Given the description of an element on the screen output the (x, y) to click on. 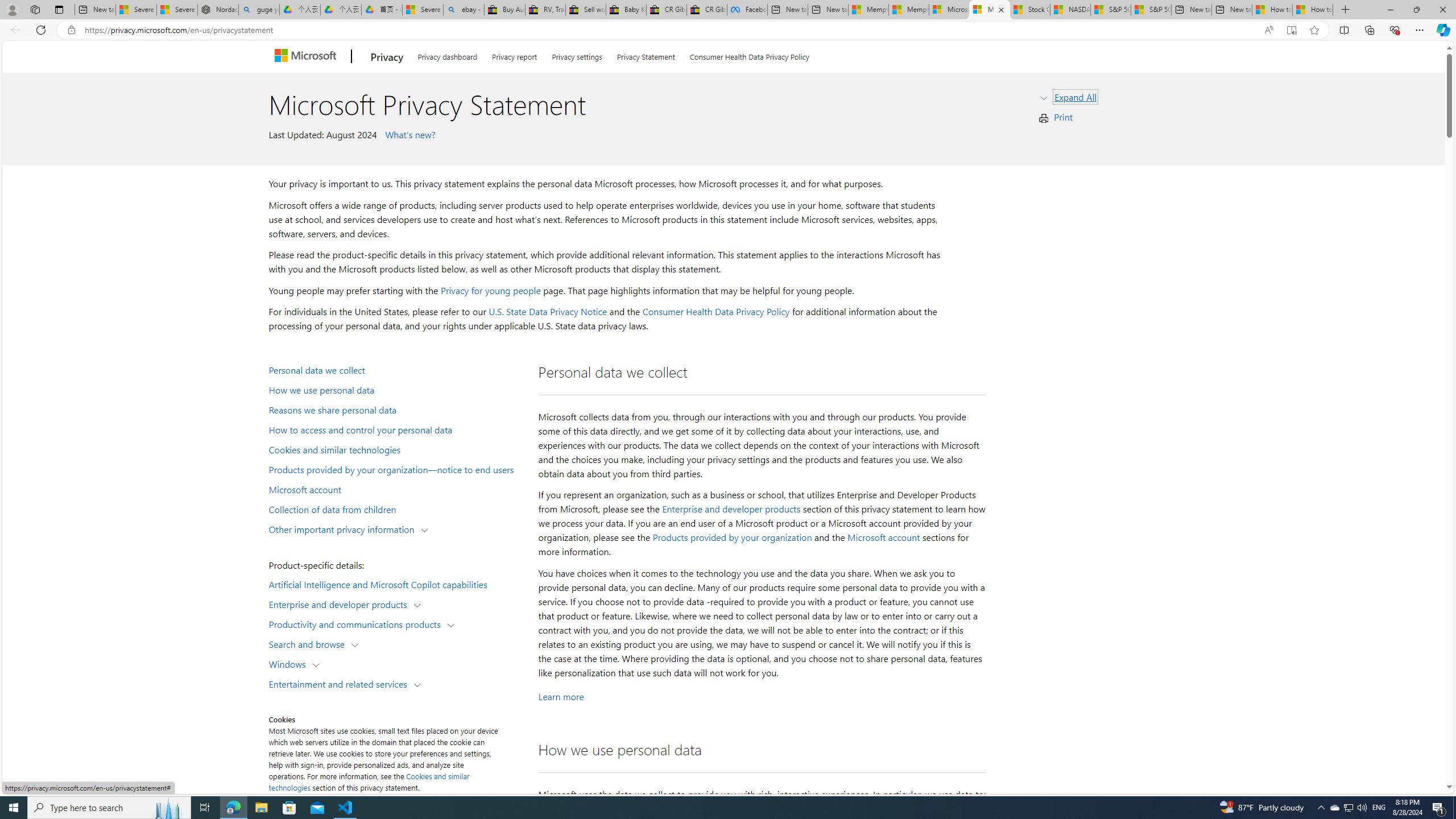
Print (1063, 116)
Add this page to favorites (Ctrl+D) (1314, 29)
Cookies and similar technologies (395, 449)
